Given the description of an element on the screen output the (x, y) to click on. 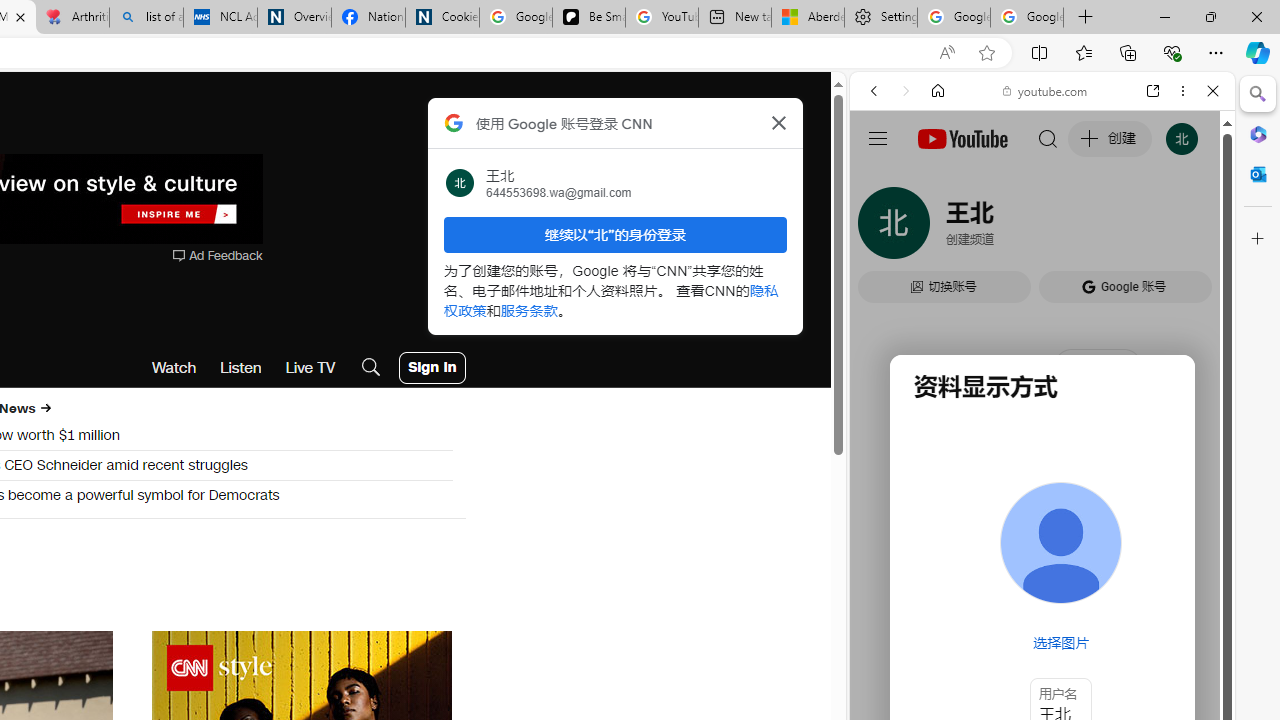
Preferences (1189, 228)
WEB   (882, 228)
Search Filter, Search Tools (1093, 228)
Listen (241, 367)
#you (1042, 445)
Search videos from youtube.com (1005, 657)
